Given the description of an element on the screen output the (x, y) to click on. 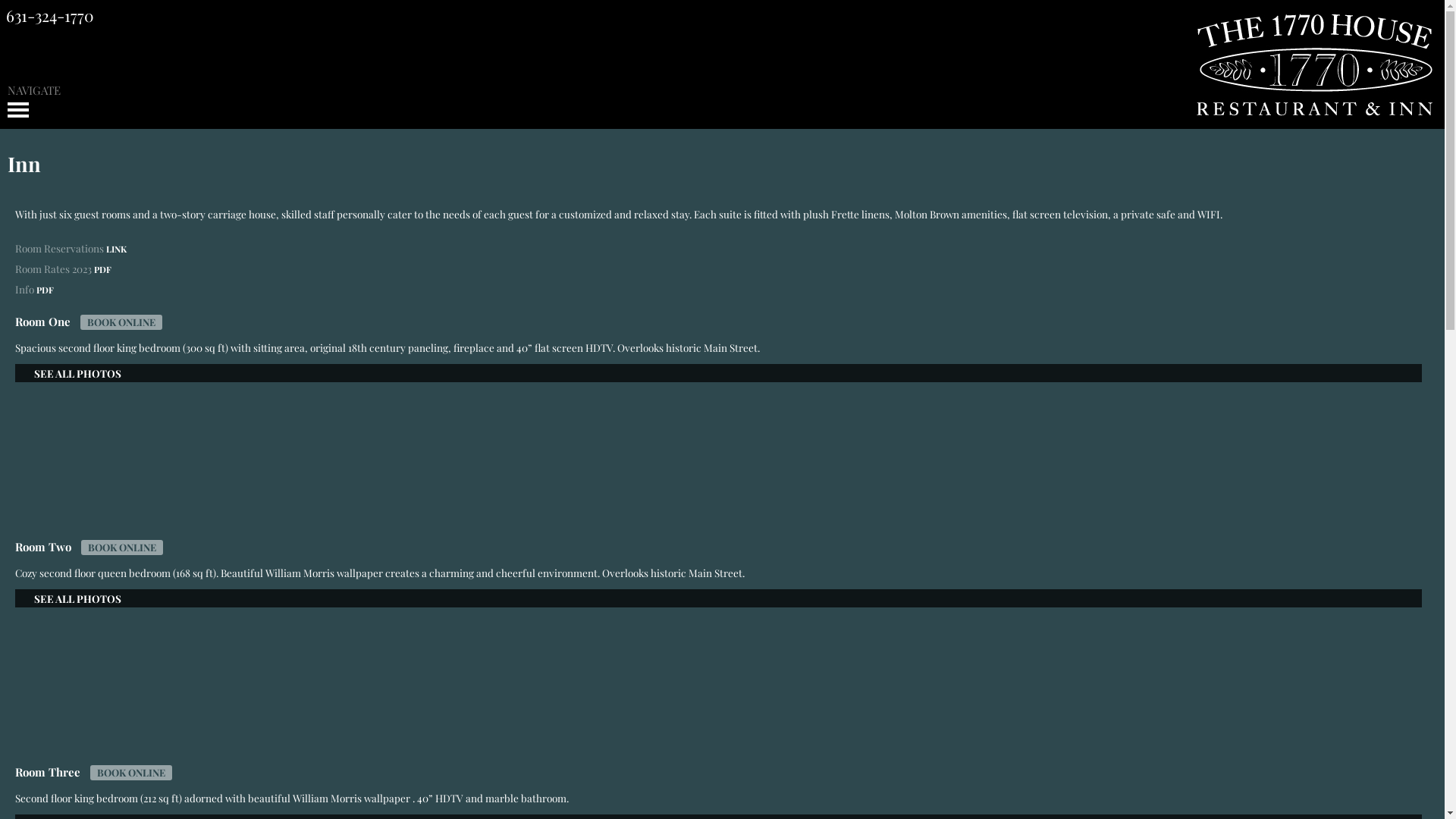
SEE ALL PHOTOS Element type: text (718, 439)
631-324-1770 Element type: text (50, 14)
NAVIGATE Element type: text (722, 100)
SEE ALL PHOTOS Element type: text (718, 664)
BOOK ONLINE Element type: text (121, 321)
Info PDF Element type: text (722, 289)
BOOK ONLINE Element type: text (131, 772)
BOOK ONLINE Element type: text (122, 547)
Room Rates 2023 PDF Element type: text (722, 268)
Room Reservations LINK Element type: text (722, 248)
